Given the description of an element on the screen output the (x, y) to click on. 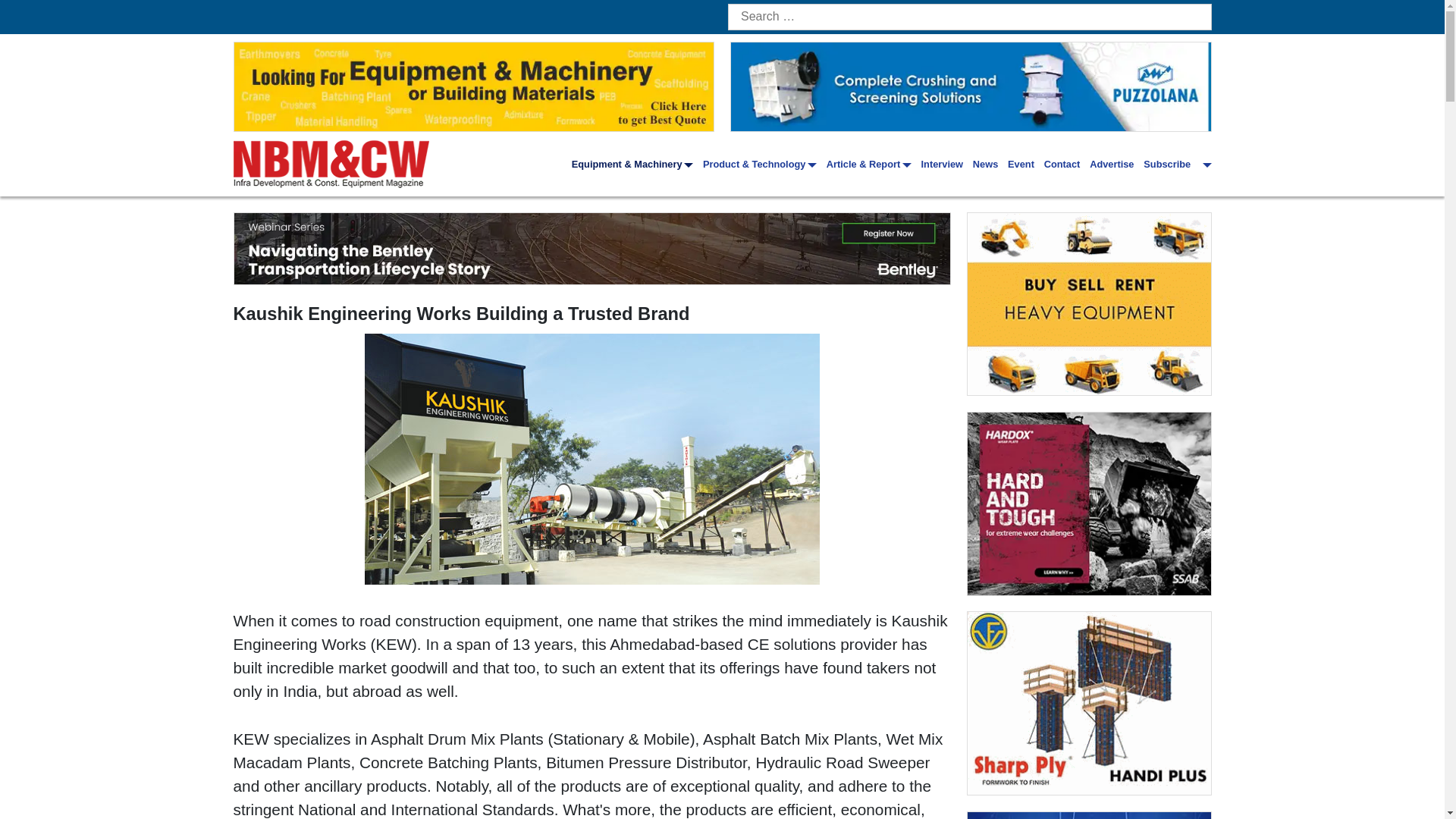
Infrabazaar - One STOP SHOP for all your INFRA needs (1089, 303)
Navigating the Bentley Transportation Lifecycle Story (591, 248)
Puzzolana - Complete Crushing and Screening Solutions (970, 86)
Kone - DX Class Elevator (1089, 815)
Sharp Ply - Formwork to finish (1089, 702)
